Given the description of an element on the screen output the (x, y) to click on. 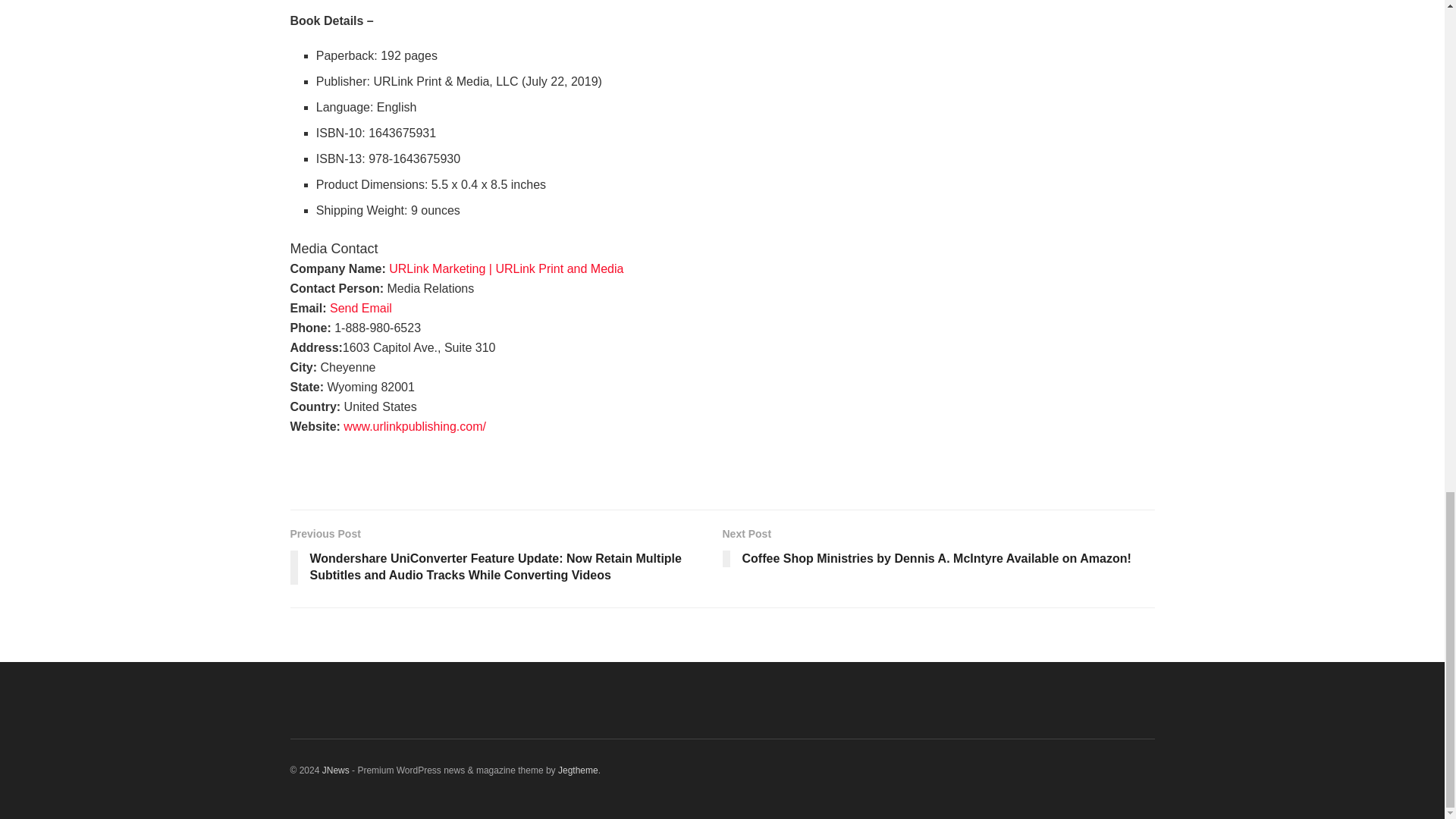
Jegtheme (577, 769)
Send Email (360, 308)
JNews (335, 769)
Jegtheme (577, 769)
